Given the description of an element on the screen output the (x, y) to click on. 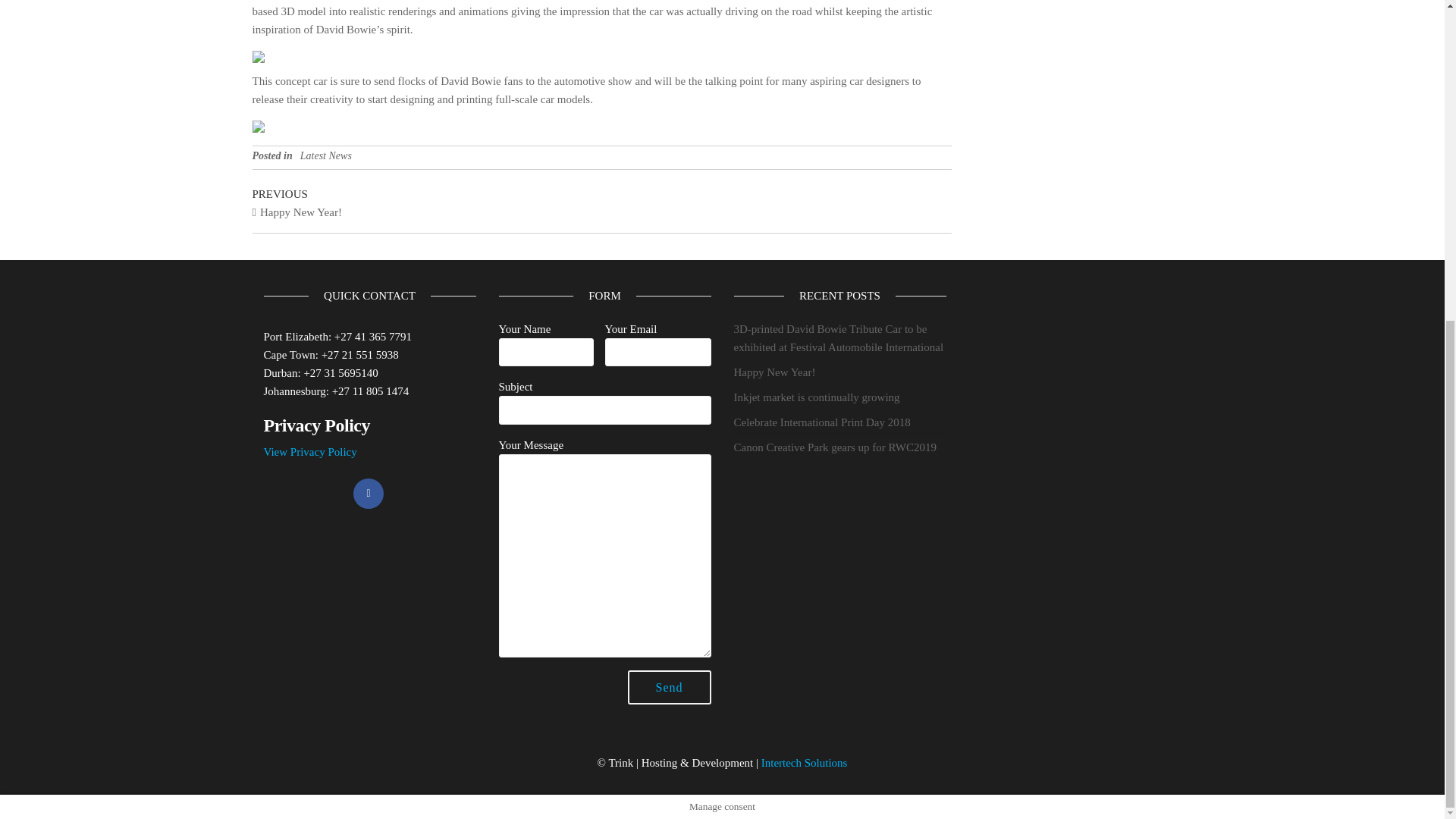
Latest News (325, 155)
Send (669, 687)
Happy New Year! (774, 372)
Intertech Solutions (804, 762)
View Privacy Policy (309, 451)
Celebrate International Print Day 2018 (822, 422)
Canon Creative Park gears up for RWC2019 (834, 447)
Facebook (368, 493)
Inkjet market is continually growing (816, 397)
